Given the description of an element on the screen output the (x, y) to click on. 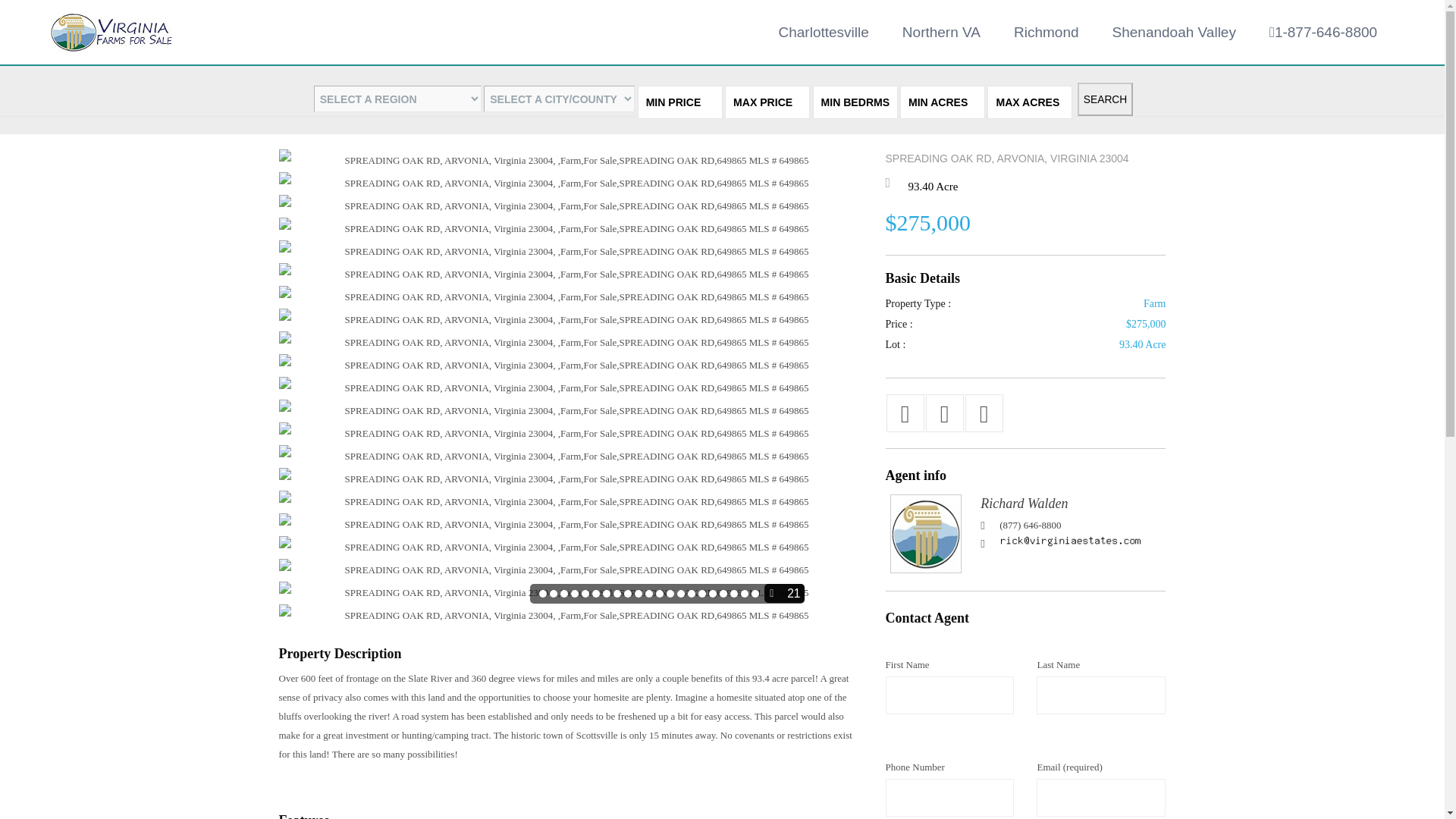
Richmond (1046, 32)
Shenandoah Valley (1174, 32)
Northern VA (941, 32)
Search (1104, 99)
Search (1104, 99)
Charlottesville (823, 32)
